Given the description of an element on the screen output the (x, y) to click on. 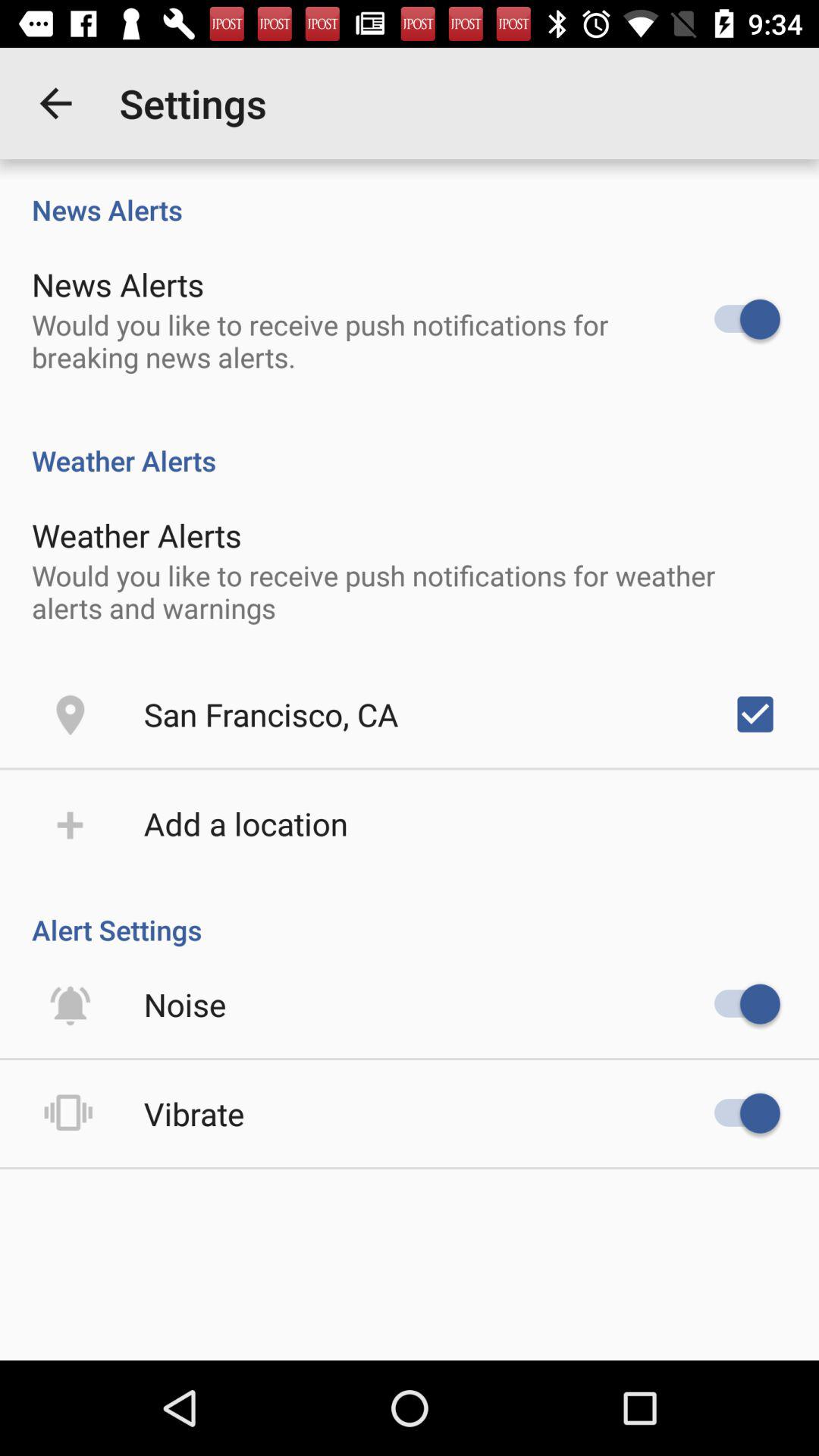
turn on the app to the left of the settings (55, 103)
